Given the description of an element on the screen output the (x, y) to click on. 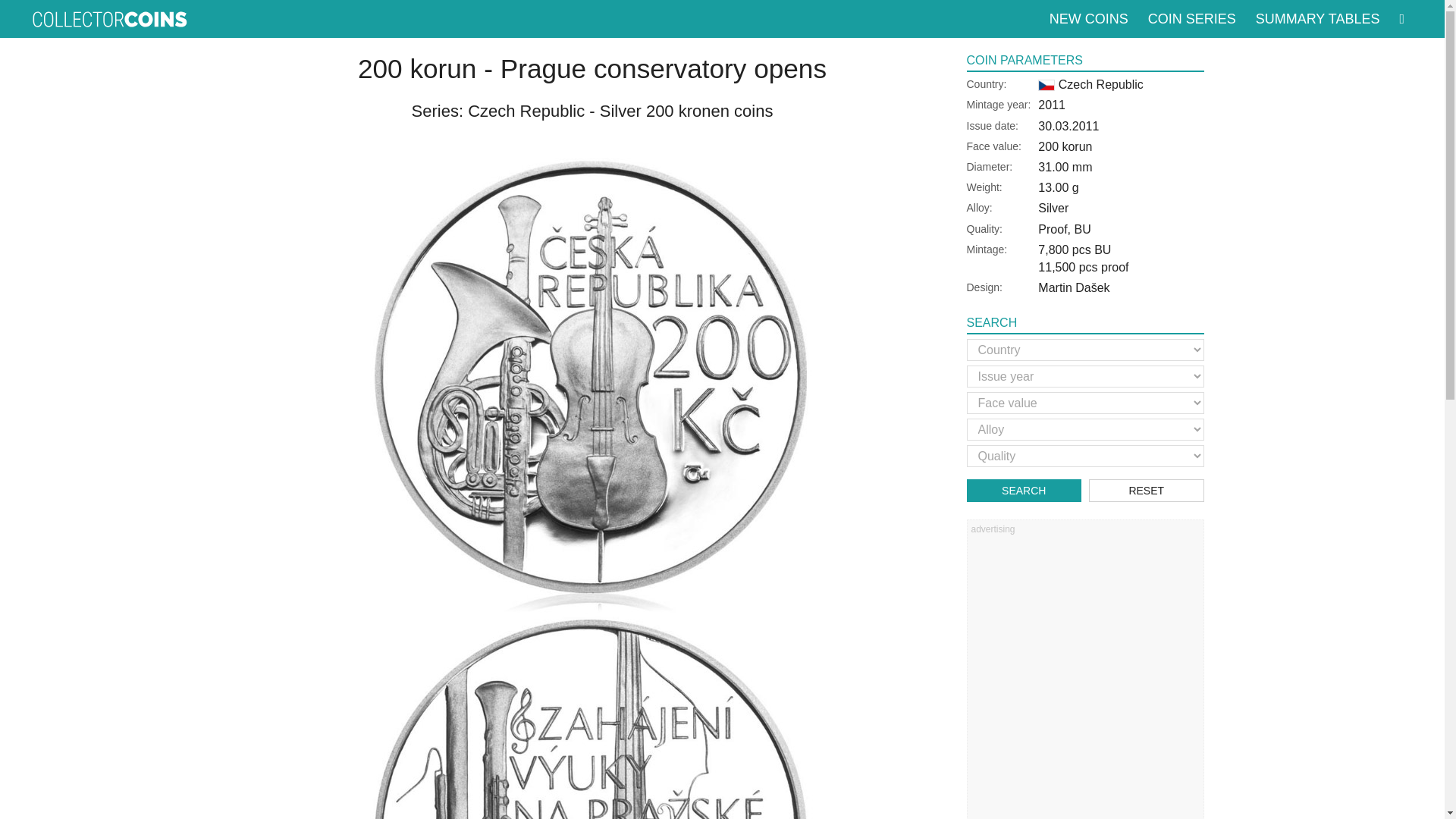
2011 (1051, 104)
SEARCH (1023, 490)
RESET (1146, 490)
NEW COINS (1088, 19)
New coins in the database (1088, 19)
Country summary coin tables (1317, 19)
Collector and commemorative coins (108, 18)
SUMMARY TABLES (1317, 19)
List of the coin series (1191, 19)
Show coins 2011 from Czech Republic (1051, 104)
